Given the description of an element on the screen output the (x, y) to click on. 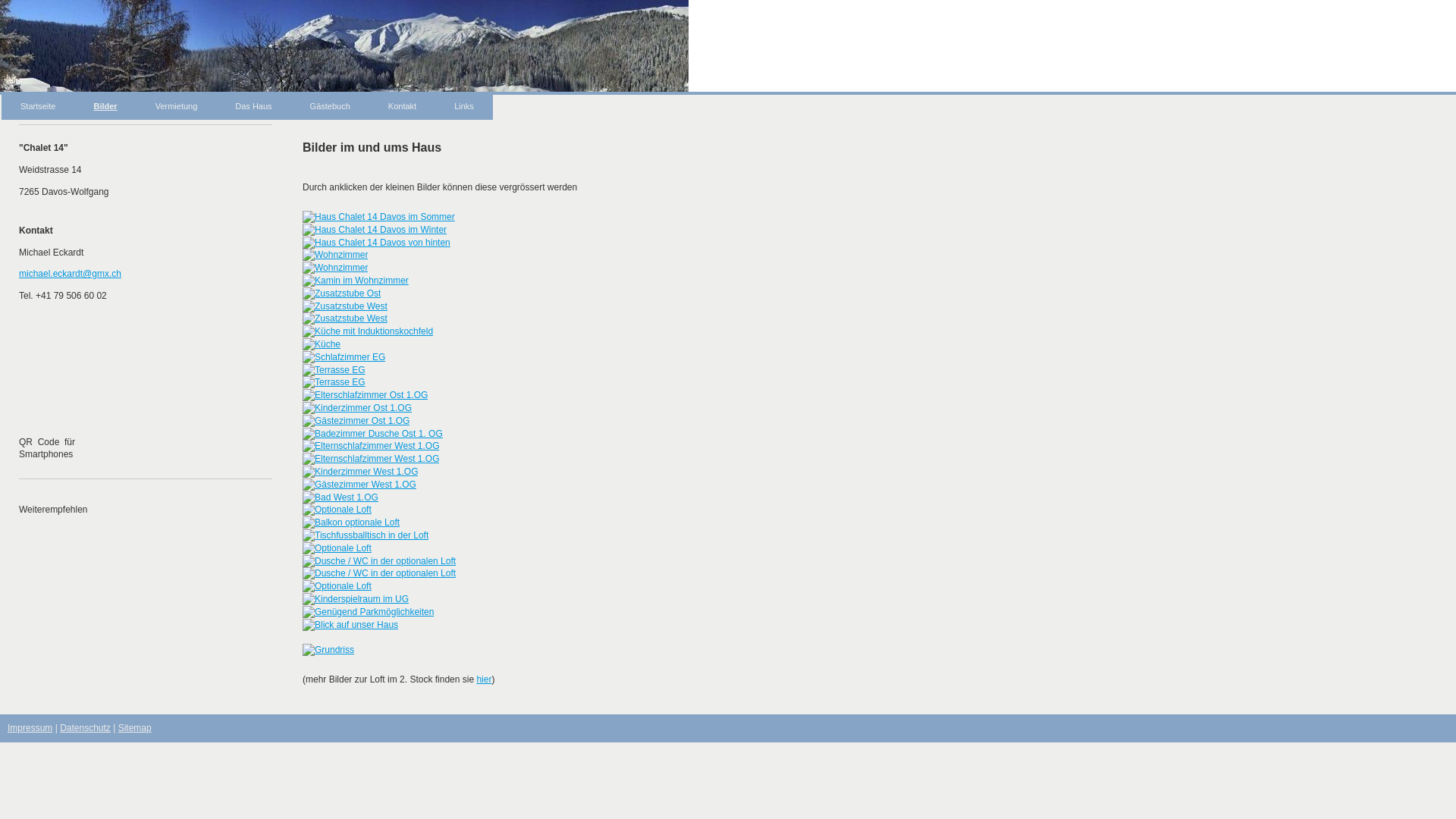
michael.eckardt@gmx.ch Element type: text (69, 273)
Vermietung Element type: text (176, 106)
Datenschutz Element type: text (84, 727)
Impressum Element type: text (29, 727)
Startseite Element type: text (37, 106)
Links Element type: text (463, 106)
Sitemap Element type: text (134, 727)
hier Element type: text (483, 679)
Kontakt Element type: text (402, 106)
Bilder Element type: text (104, 106)
Das Haus Element type: text (253, 106)
